Given the description of an element on the screen output the (x, y) to click on. 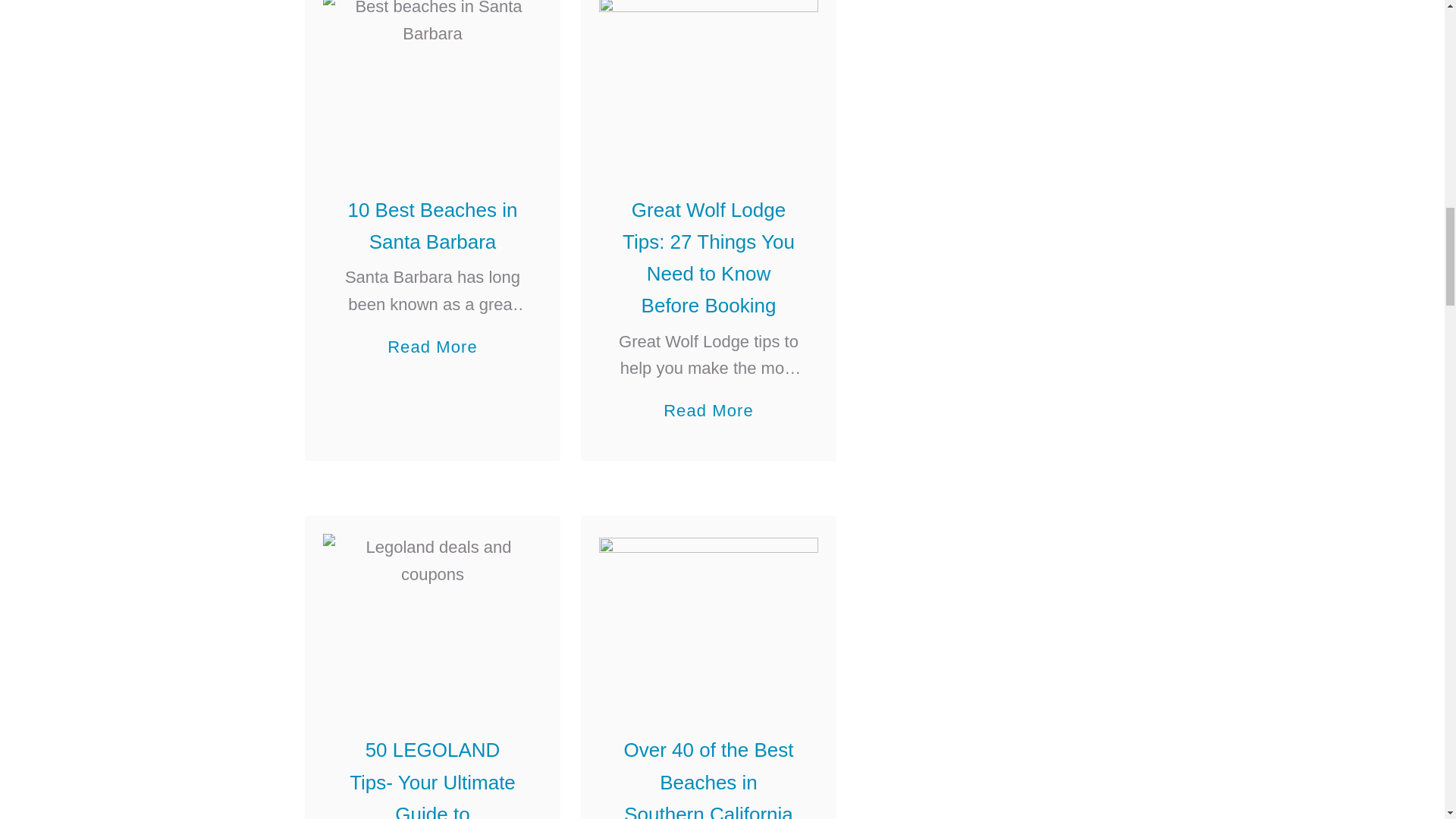
10 Best Beaches in Santa Barbara (432, 79)
10 Best Beaches in Santa Barbara (431, 226)
50 LEGOLAND Tips- Your Ultimate Guide to LEGOLAND San Diego (432, 615)
